Given the description of an element on the screen output the (x, y) to click on. 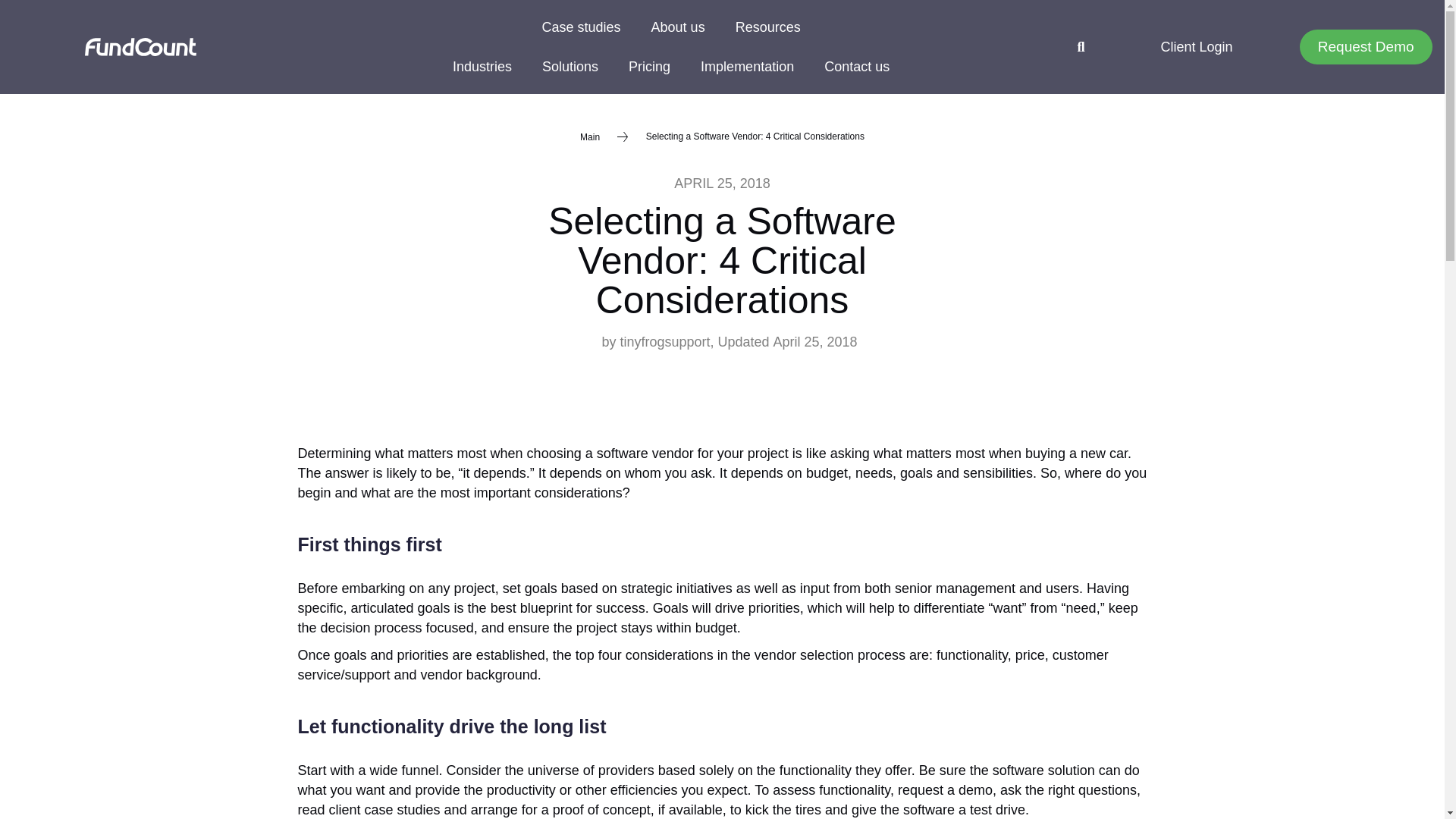
About us (678, 26)
white-logo-svg (140, 46)
Case studies (581, 26)
Industries (482, 66)
Resources (767, 26)
Solutions (569, 66)
